Given the description of an element on the screen output the (x, y) to click on. 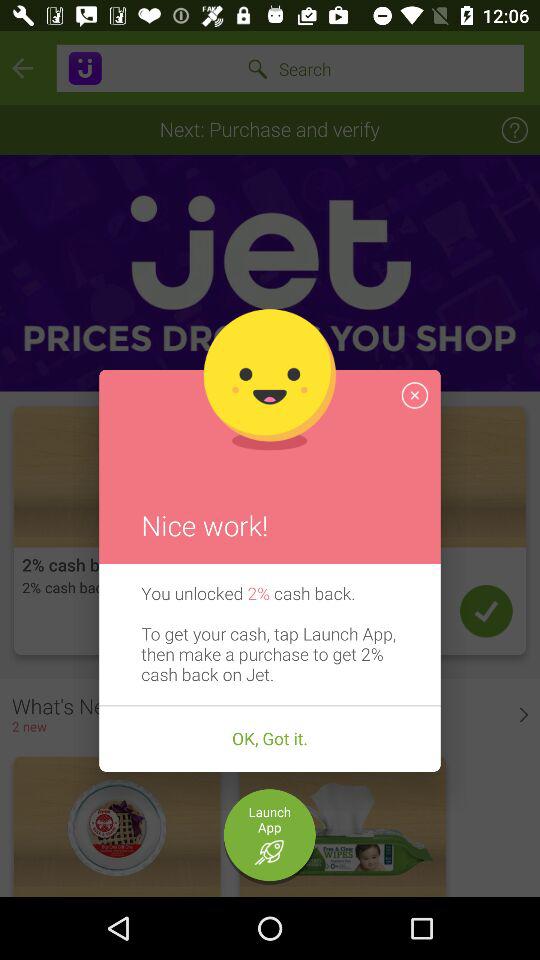
press item on the right (414, 395)
